Given the description of an element on the screen output the (x, y) to click on. 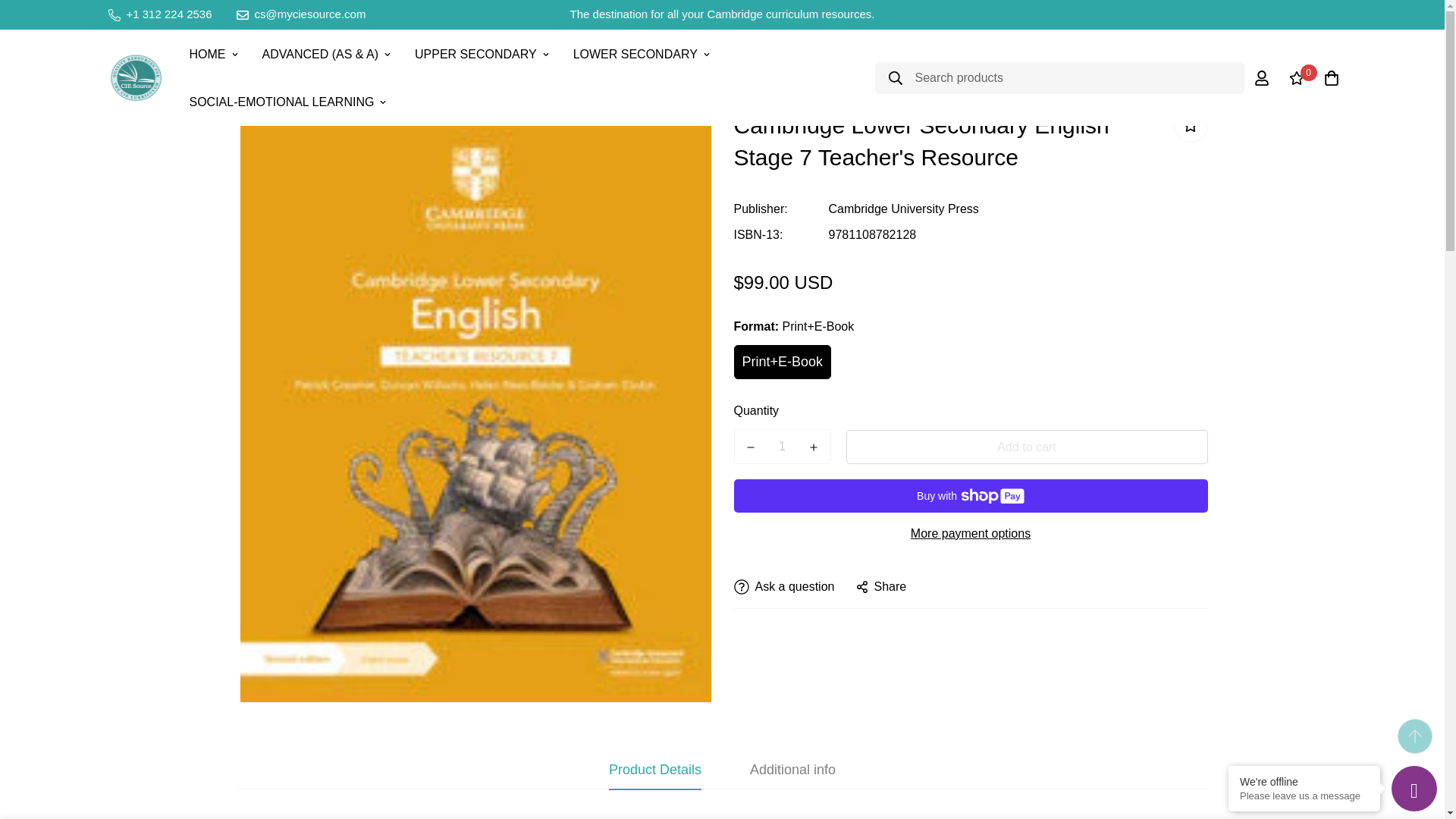
1 (782, 446)
SOCIAL-EMOTIONAL LEARNING (287, 101)
UPPER SECONDARY (481, 53)
Please leave us a message (1304, 795)
HOME (213, 53)
LOWER SECONDARY (641, 53)
Cambridge University Press (903, 208)
We're offline (1304, 781)
